Given the description of an element on the screen output the (x, y) to click on. 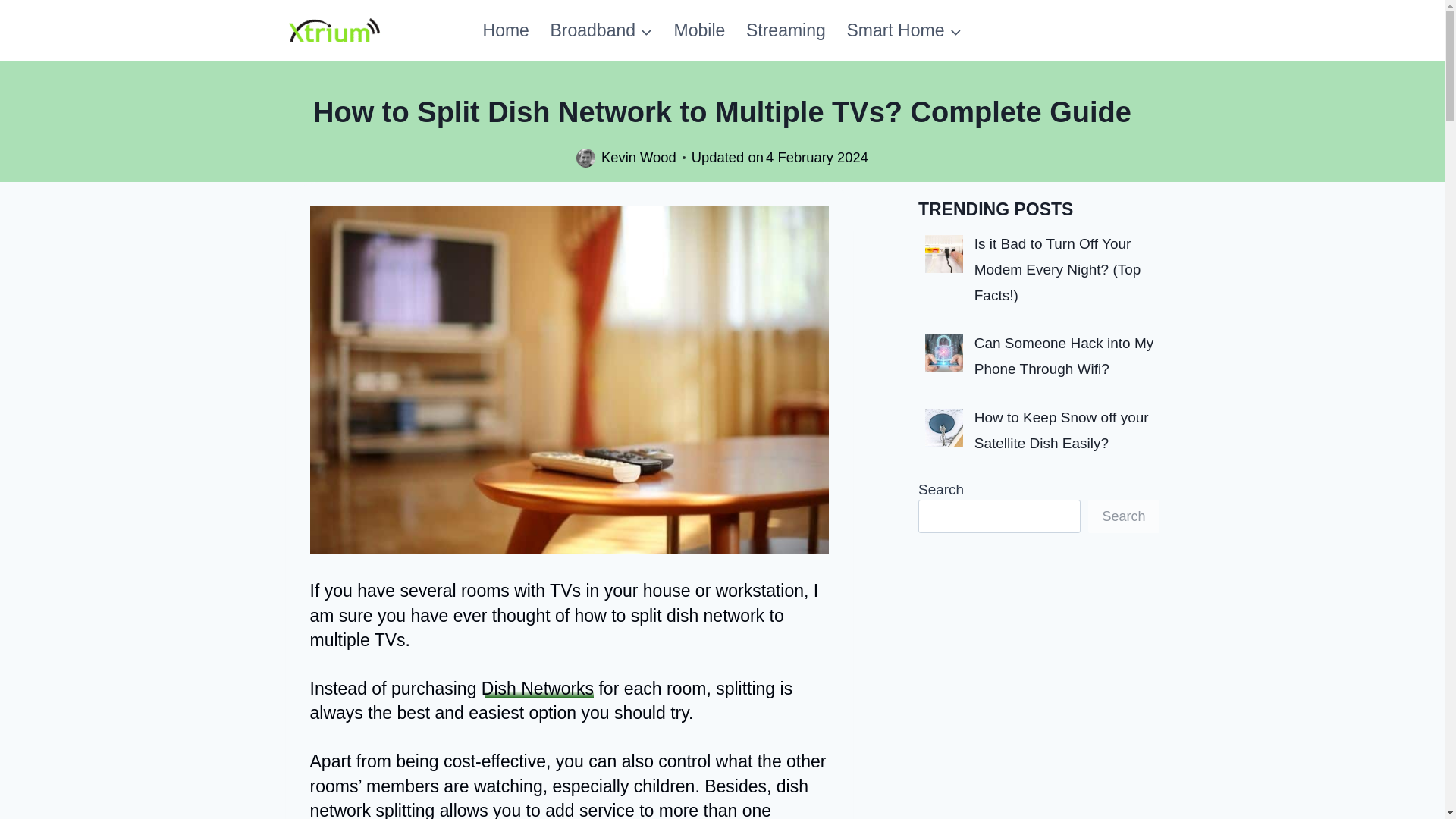
Can Someone Hack into My Phone Through Wifi? 5 (943, 353)
Kevin Wood (639, 157)
Can Someone Hack into My Phone Through Wifi? (1064, 355)
Home (505, 30)
Smart Home (903, 30)
Search (1122, 516)
Dish Networks (537, 688)
Streaming (785, 30)
How to Keep Snow off your Satellite Dish Easily? 6 (943, 428)
How to Keep Snow off your Satellite Dish Easily? (1061, 430)
Mobile (699, 30)
Broadband (601, 30)
